Given the description of an element on the screen output the (x, y) to click on. 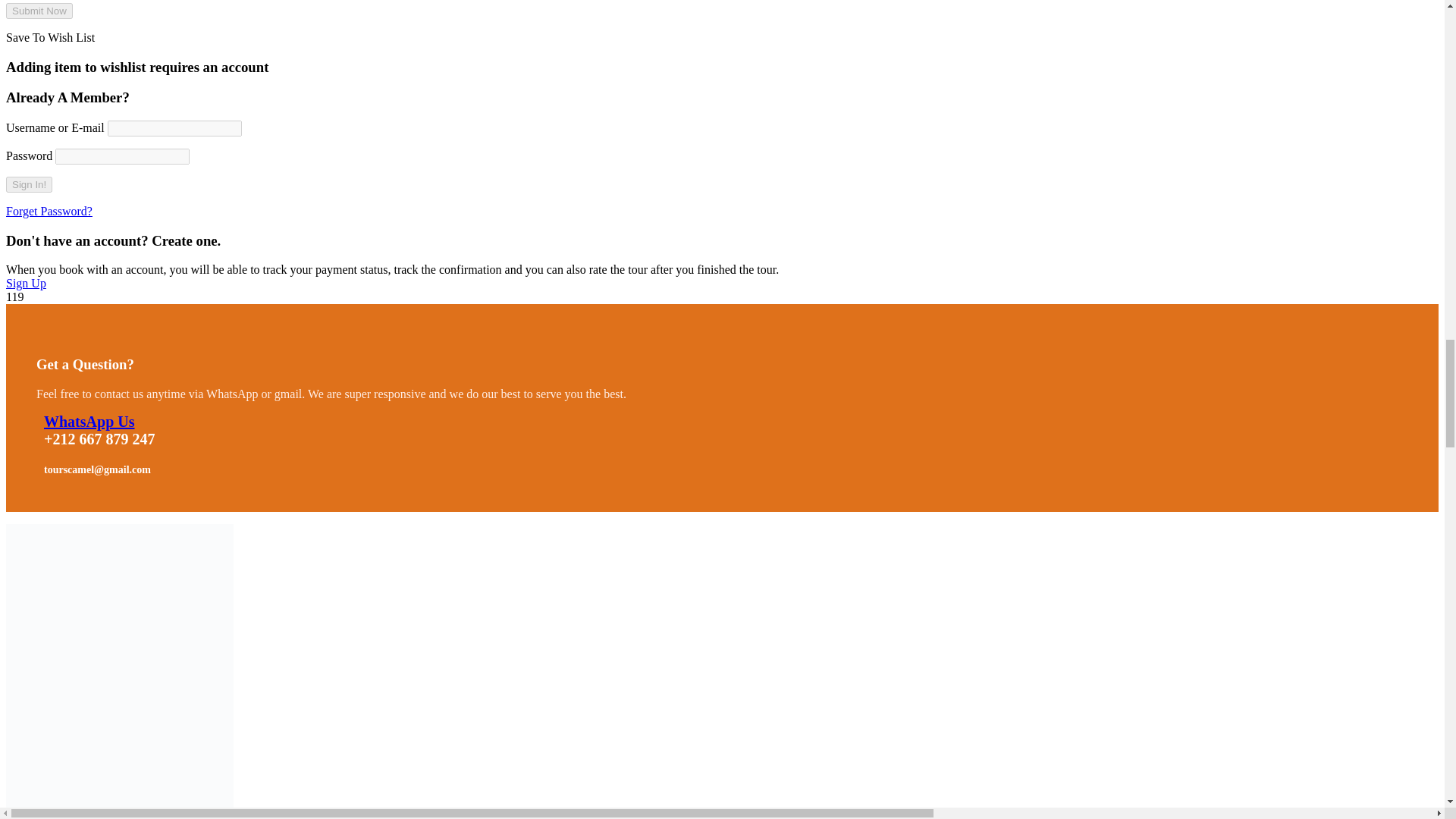
WhatsApp Us (88, 421)
Sign In! (28, 184)
Sign In! (28, 184)
Submit Now (38, 10)
Submit Now (38, 10)
Forget Password? (49, 210)
Sign Up (25, 282)
